Given the description of an element on the screen output the (x, y) to click on. 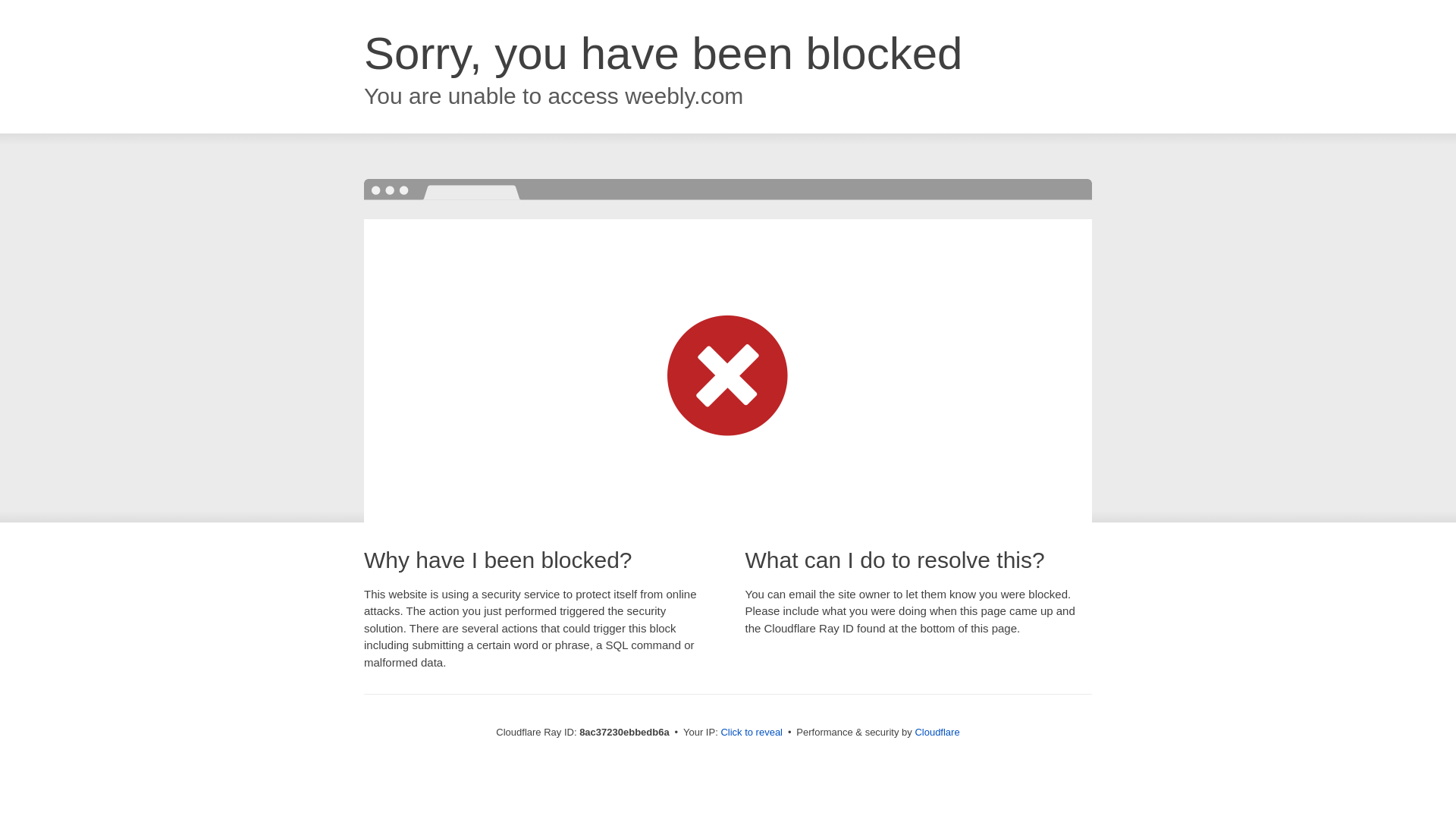
Cloudflare (936, 731)
Click to reveal (751, 732)
